Given the description of an element on the screen output the (x, y) to click on. 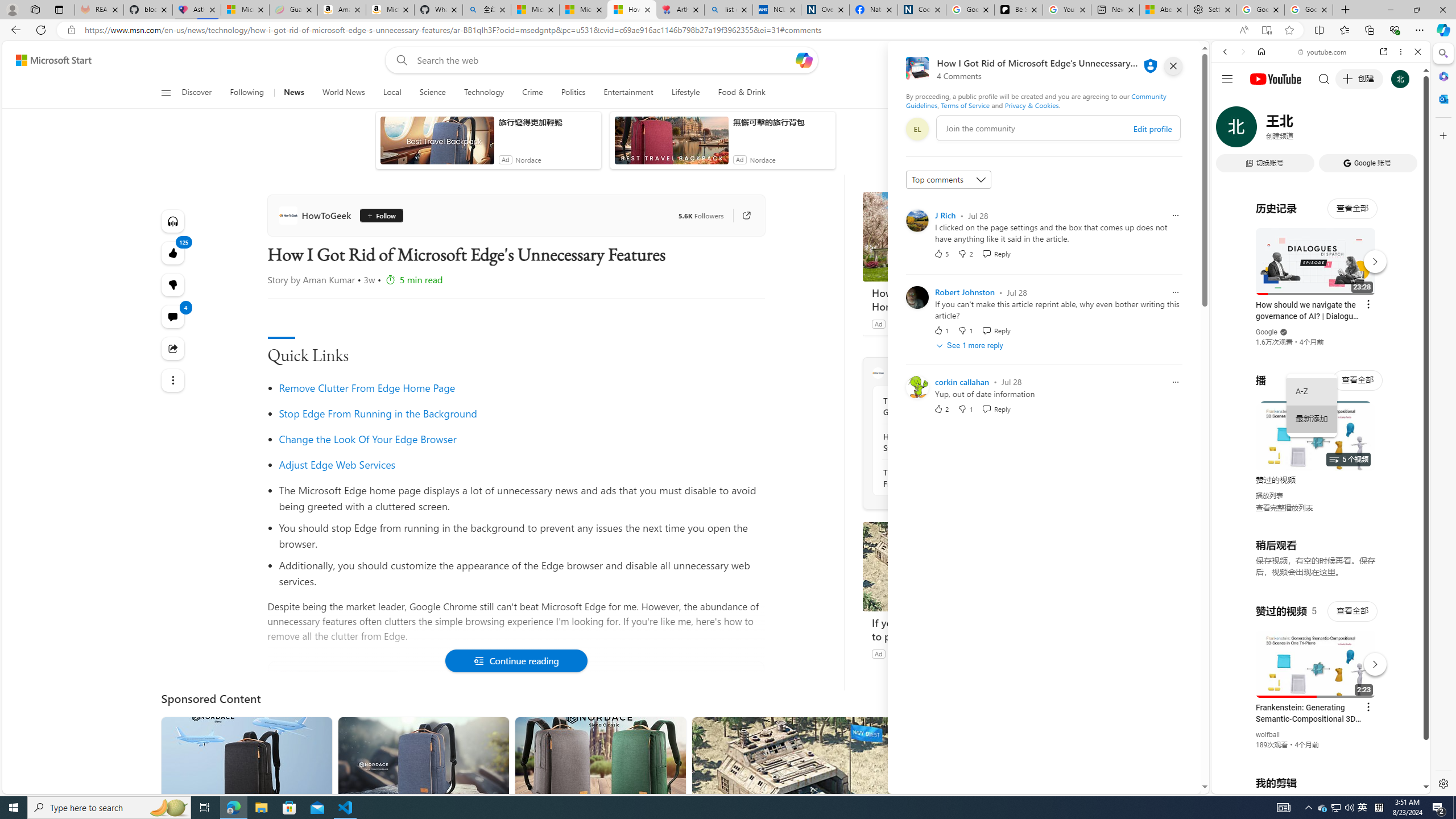
Search Filter, WEB (1230, 129)
Music (1320, 309)
Entertainment (628, 92)
Forward (1242, 51)
Remove Clutter From Edge Home Page (521, 387)
WEB   (1230, 130)
See 1 more reply (971, 345)
Politics (573, 92)
125 Like (172, 252)
